Given the description of an element on the screen output the (x, y) to click on. 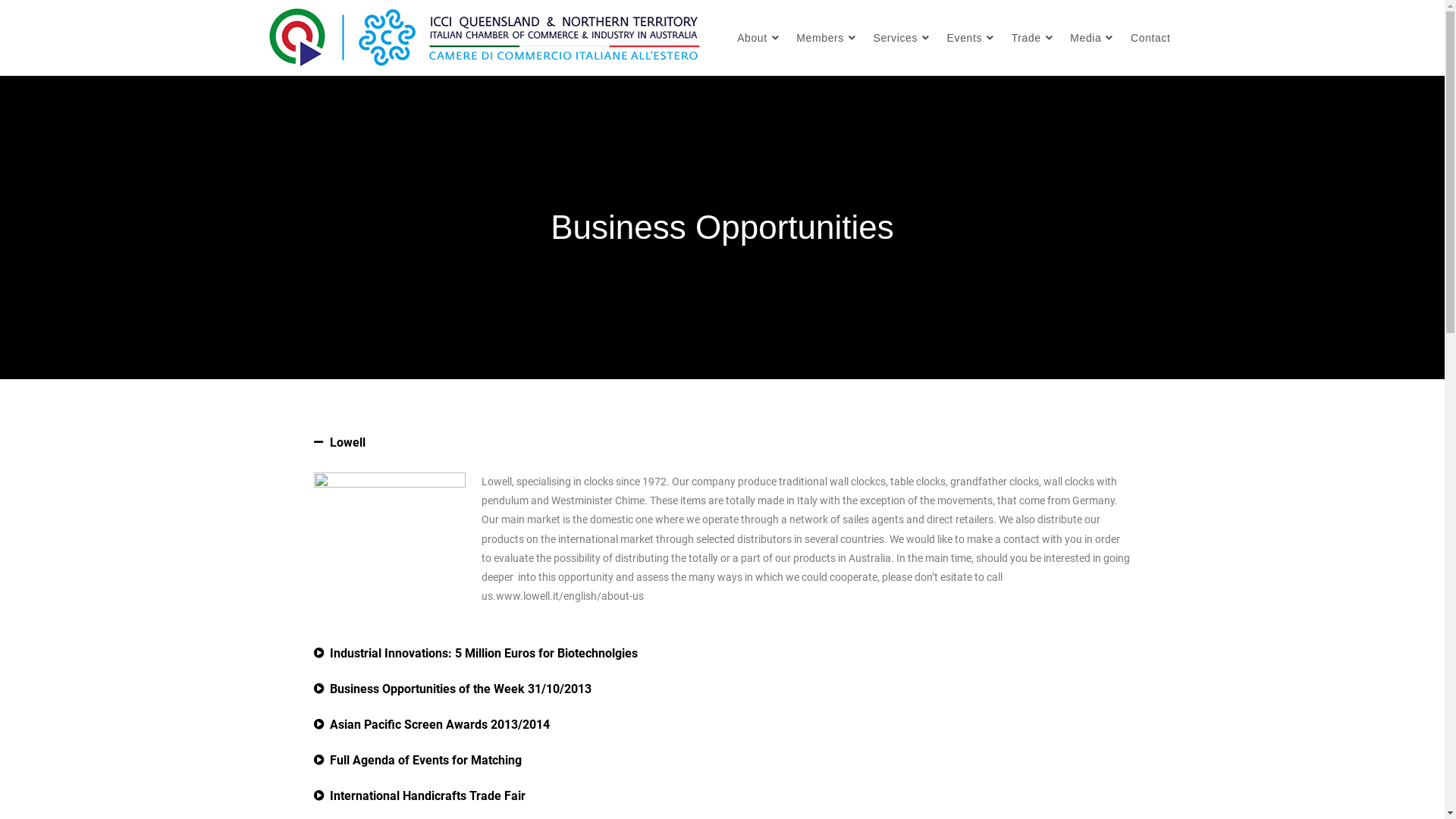
Events Element type: text (972, 37)
Services Element type: text (903, 37)
Trade Element type: text (1033, 37)
Lowell Element type: text (346, 442)
Members Element type: text (827, 37)
Business Opportunities of the Week 31/10/2013 Element type: text (459, 688)
Asian Pacific Screen Awards 2013/2014 Element type: text (439, 724)
Media Element type: text (1093, 37)
International Handicrafts Trade Fair Element type: text (426, 795)
Industrial Innovations: 5 Million Euros for Biotechnolgies Element type: text (483, 653)
Full Agenda of Events for Matching Element type: text (424, 760)
Contact Element type: text (1149, 37)
About Element type: text (759, 37)
